Given the description of an element on the screen output the (x, y) to click on. 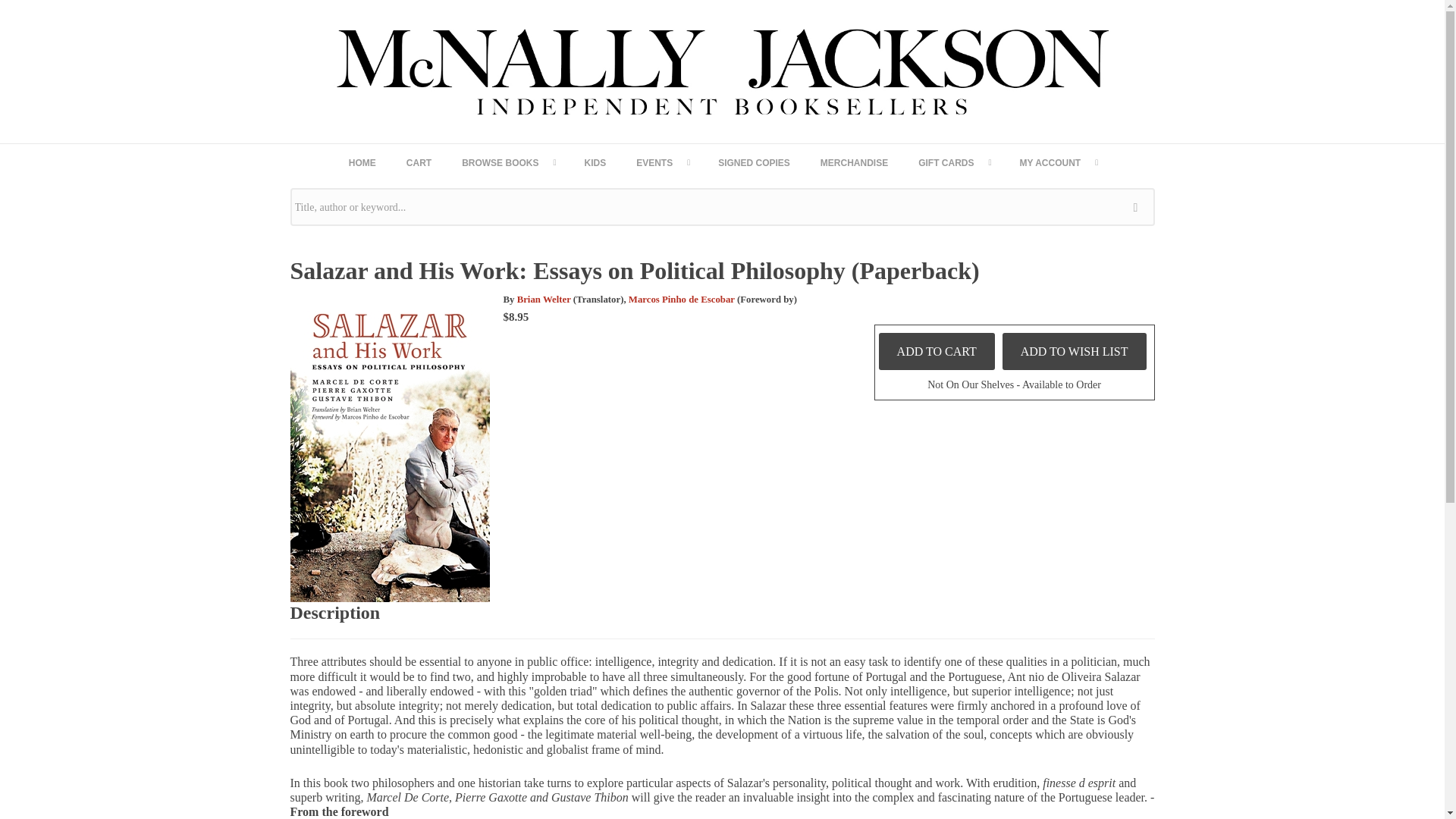
GIFT CARDS (953, 162)
Marcos Pinho de Escobar (681, 299)
SIGNED COPIES (754, 162)
HOME (362, 162)
EVENTS (662, 162)
Title, author or keyword... (721, 207)
ADD TO WISH LIST (1075, 351)
MY ACCOUNT (1058, 162)
MERCHANDISE (853, 162)
Add to Cart (936, 351)
Add to Cart (936, 351)
BROWSE BOOKS (507, 162)
KIDS (595, 162)
CART (418, 162)
